Given the description of an element on the screen output the (x, y) to click on. 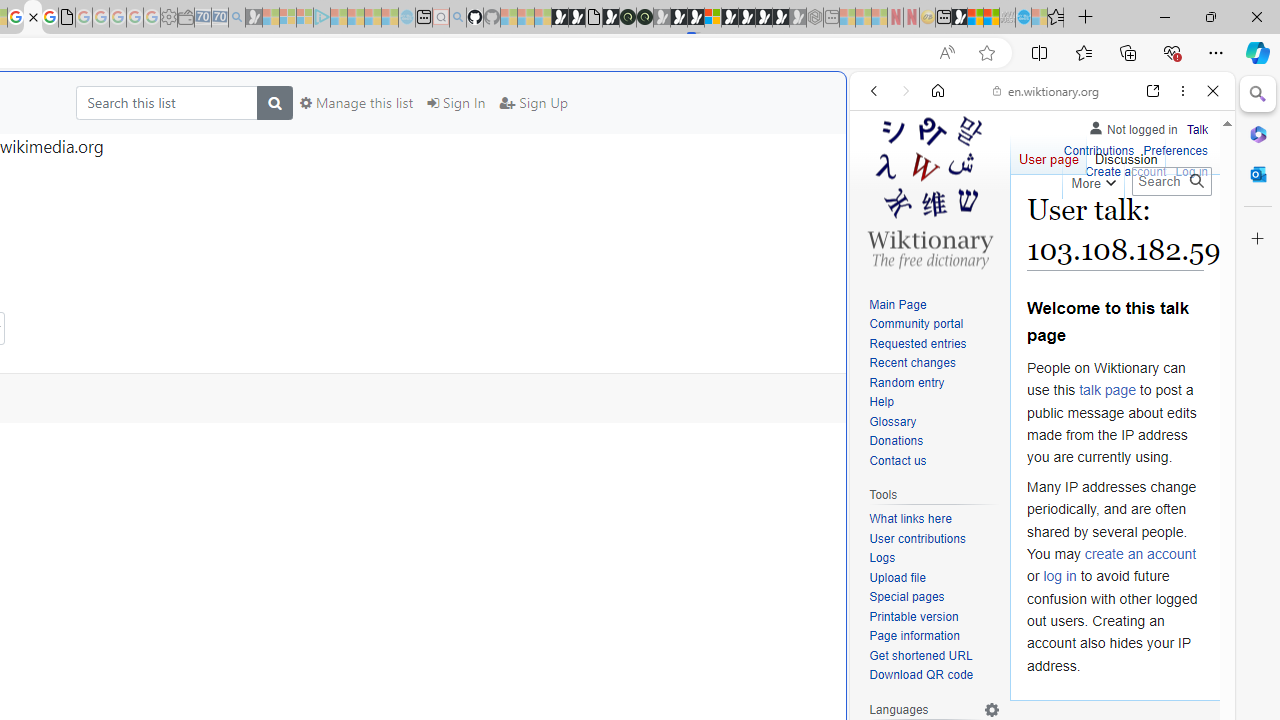
Discussion (1125, 154)
Sign in to your account (712, 17)
Community portal (916, 323)
Special pages (906, 596)
